Given the description of an element on the screen output the (x, y) to click on. 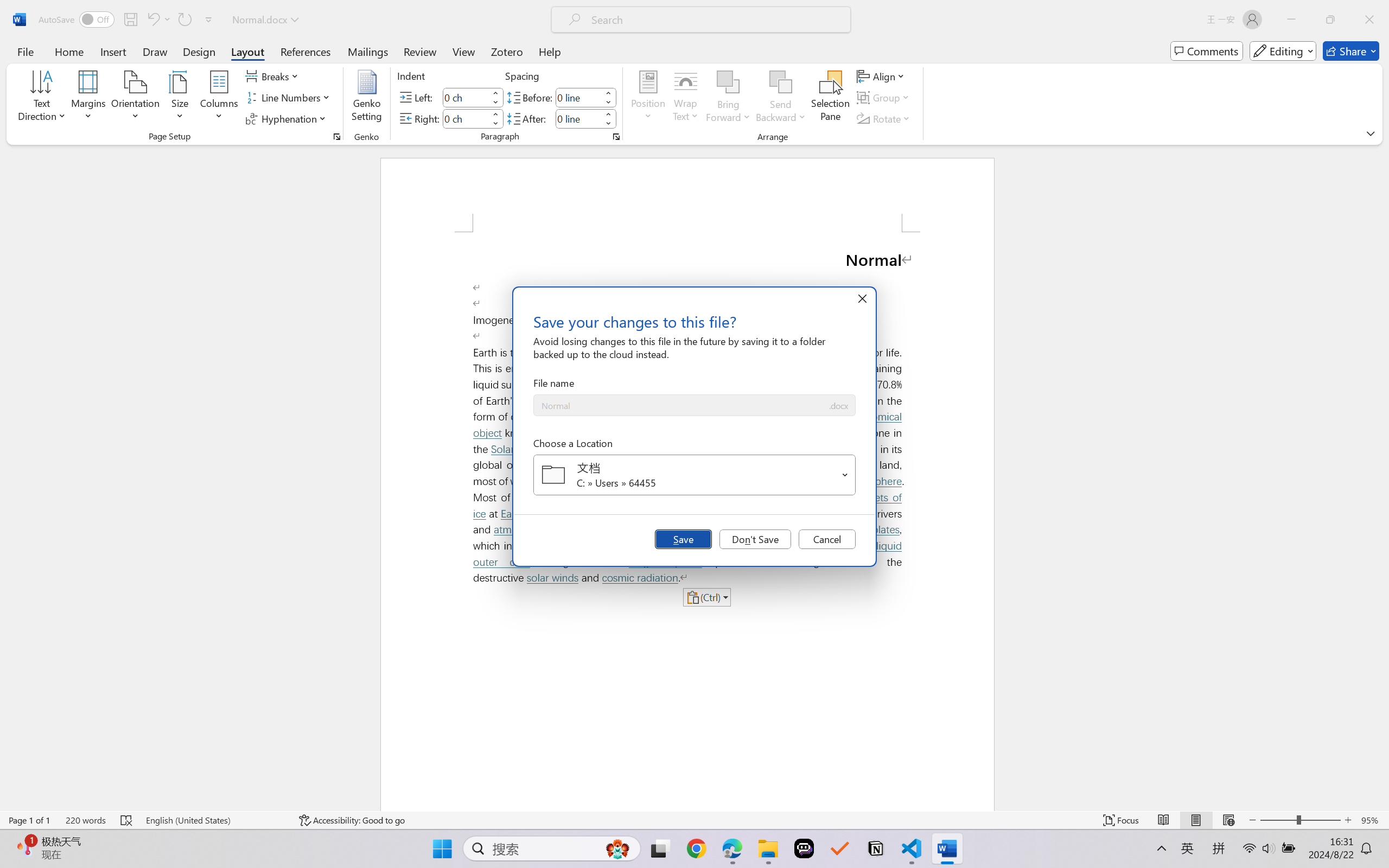
Text Direction (42, 97)
File name (680, 405)
Size (180, 97)
Zoom 95% (1372, 819)
Class: NetUIScrollBar (1382, 477)
